Given the description of an element on the screen output the (x, y) to click on. 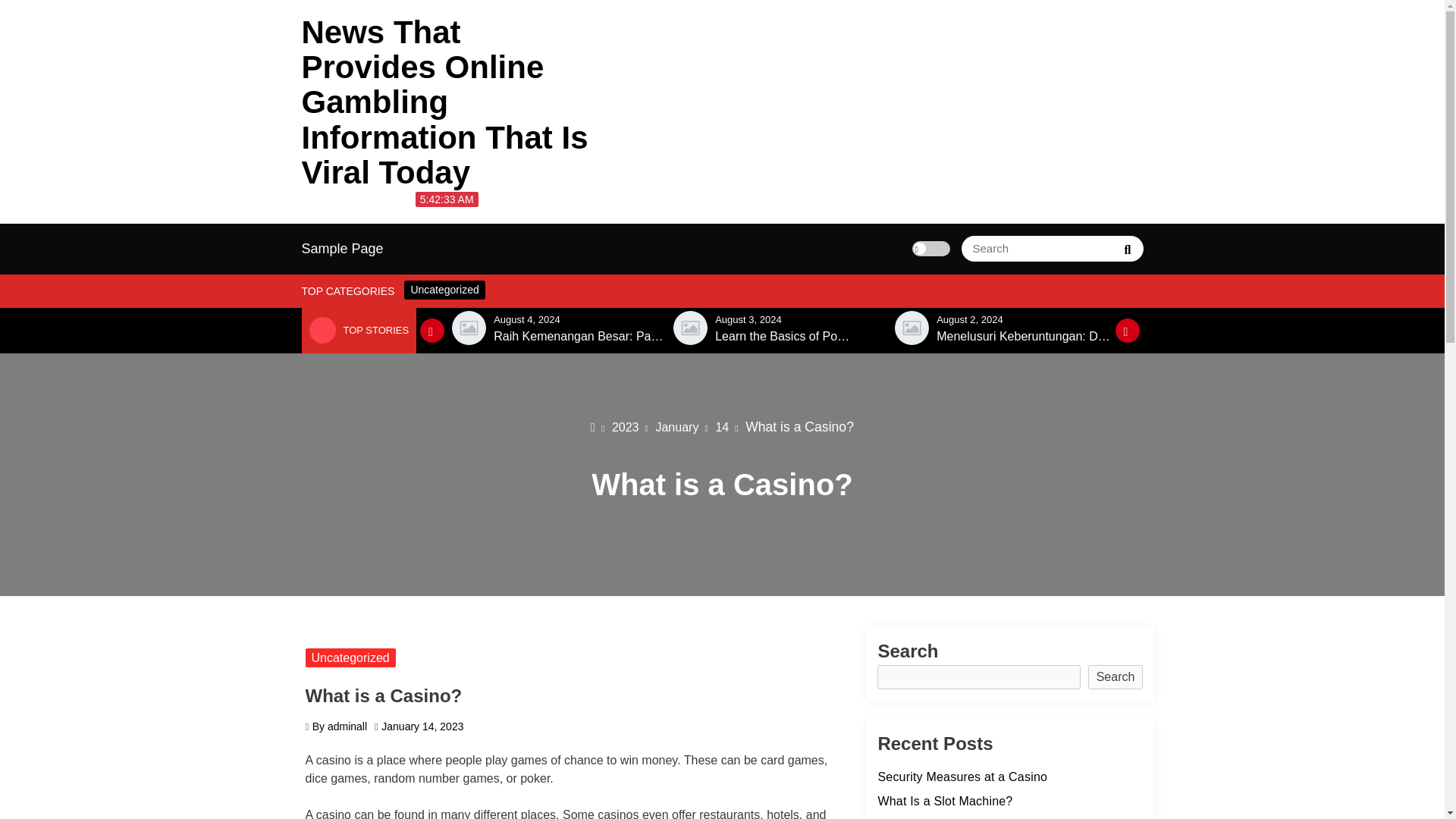
Uncategorized (444, 289)
Search (1127, 248)
August 2, 2024 (969, 319)
August 4, 2024 (526, 319)
August 3, 2024 (747, 319)
Sample Page (342, 248)
Learn the Basics of Poker (783, 336)
